Given the description of an element on the screen output the (x, y) to click on. 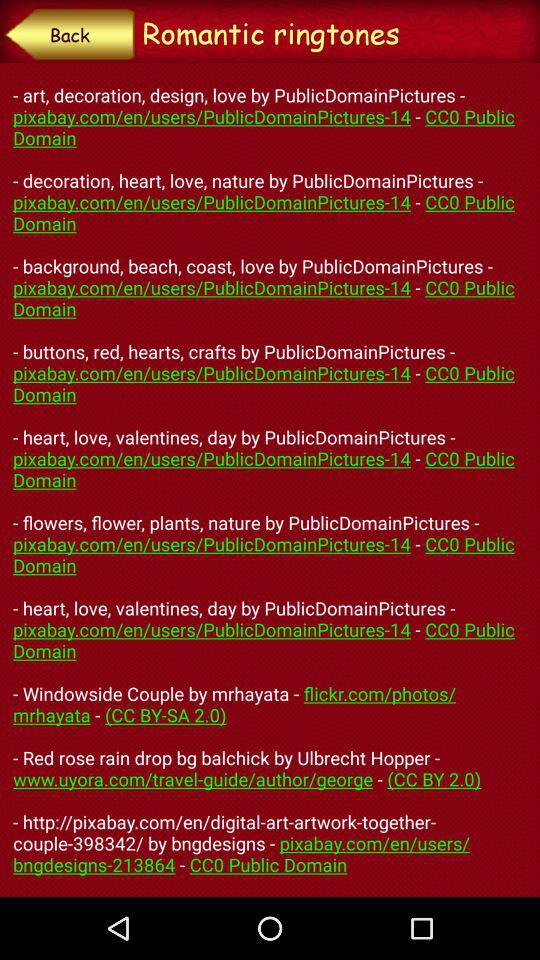
click app above the endless love songs (69, 34)
